Given the description of an element on the screen output the (x, y) to click on. 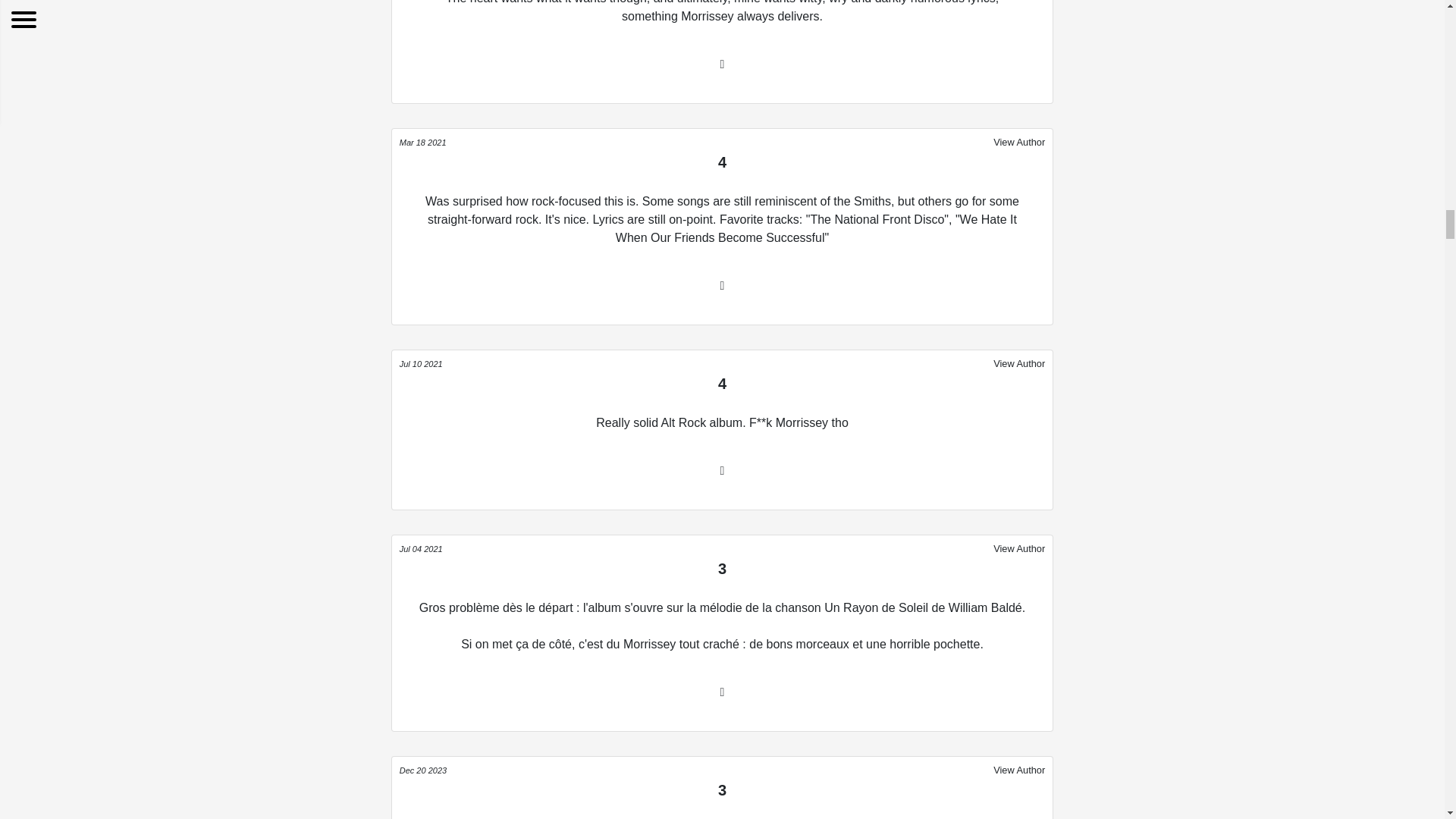
View Author (1018, 141)
View Author (1018, 362)
View Author (1018, 547)
View Author (1018, 769)
